Given the description of an element on the screen output the (x, y) to click on. 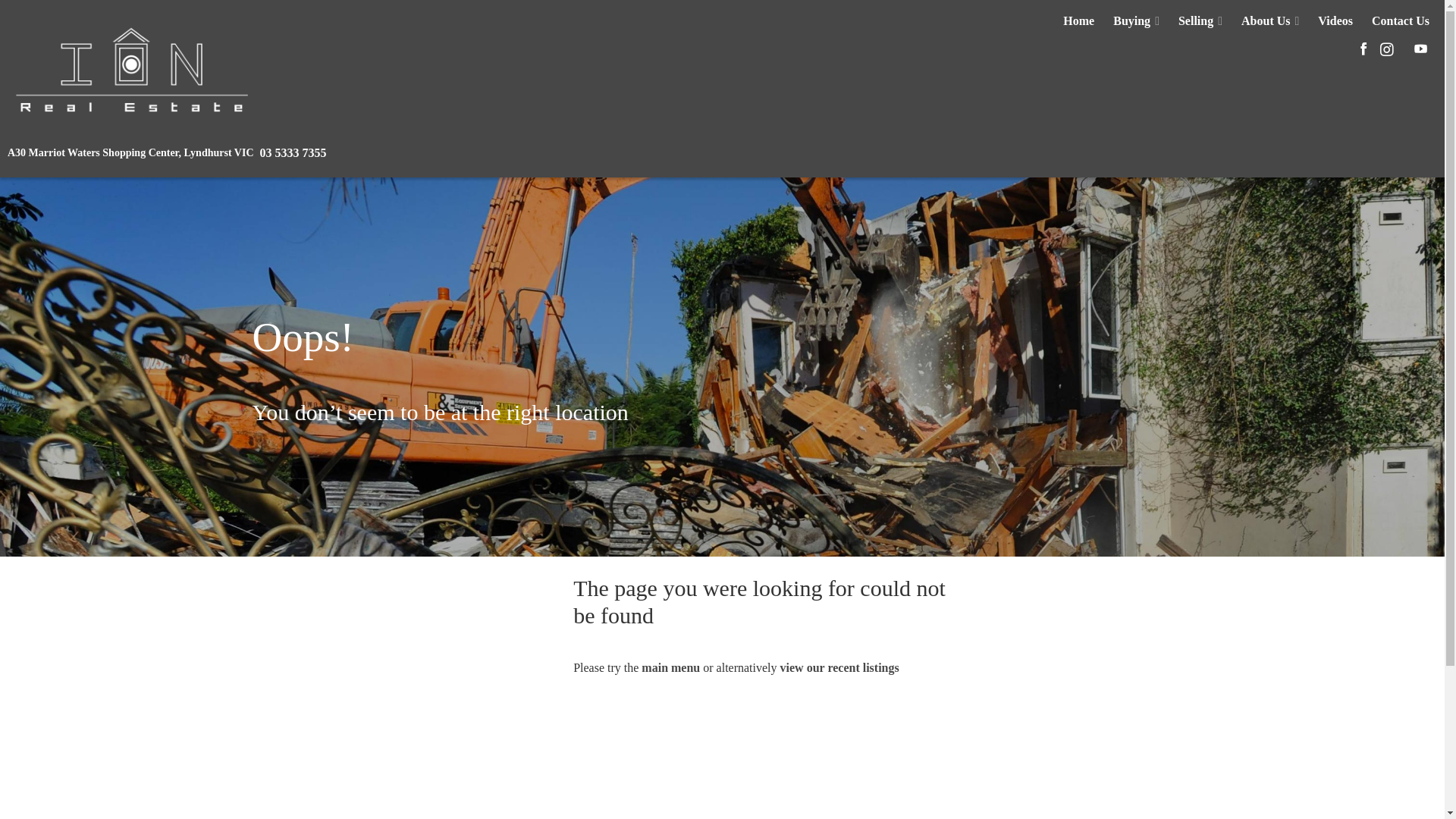
view our recent listings Element type: text (839, 667)
Contact Us Element type: text (1400, 21)
03 5333 7355 Element type: text (293, 153)
Videos Element type: text (1334, 21)
Home Element type: text (1078, 21)
A30 Marriot Waters Shopping Center, Lyndhurst VIC Element type: text (130, 153)
main menu Element type: text (670, 667)
